Given the description of an element on the screen output the (x, y) to click on. 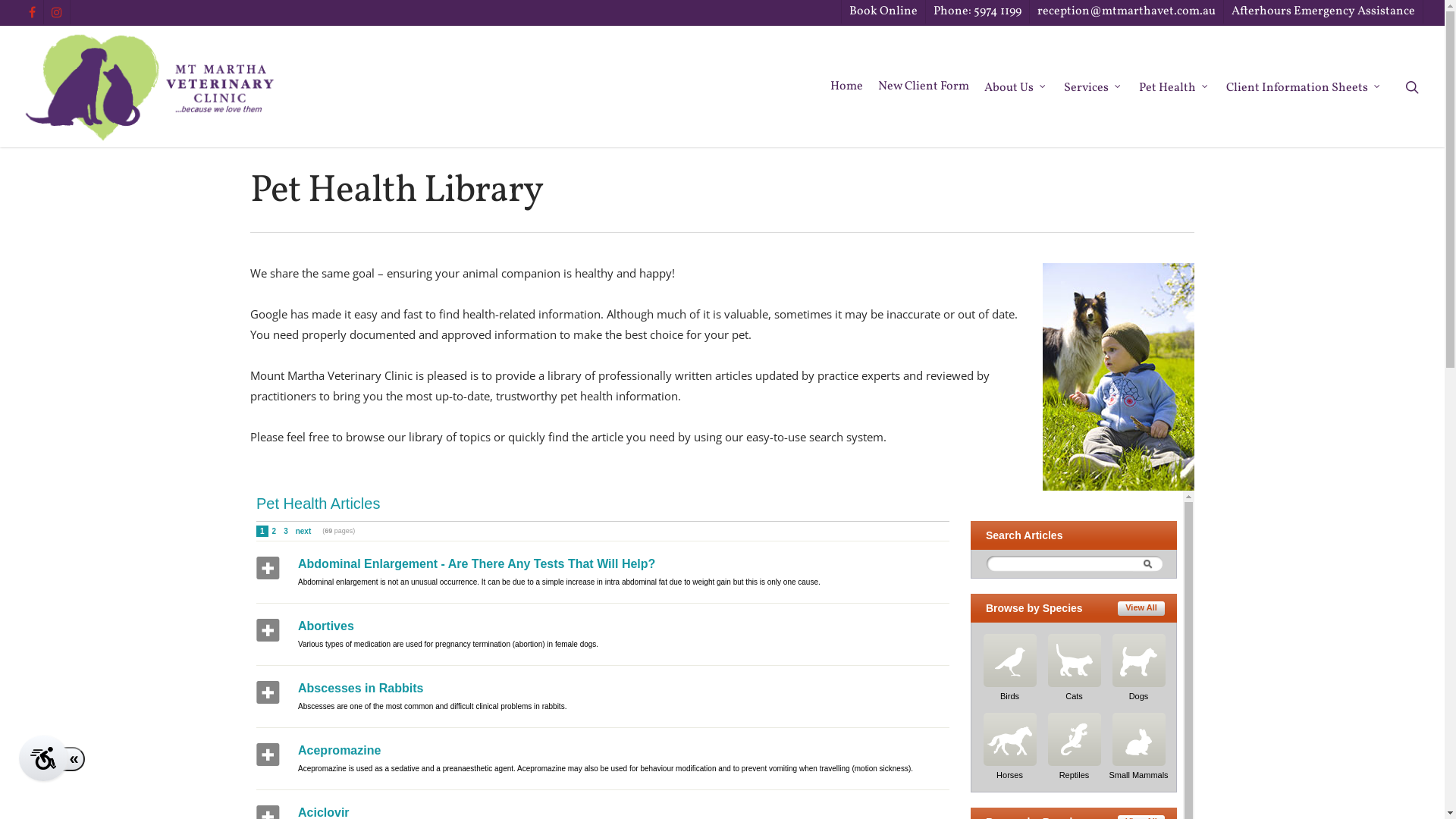
Switch to accessible version of site Element type: hover (42, 758)
Home Element type: text (846, 86)
reception@mtmarthavet.com.au Element type: text (1126, 11)
Book Online Element type: text (882, 11)
Services Element type: text (1093, 86)
Phone: 5974 1199 Element type: text (977, 11)
Pet Health Element type: text (1175, 86)
Client Information Sheets Element type: text (1304, 86)
New Client Form Element type: text (923, 86)
About Us Element type: text (1016, 86)
Afterhours Emergency Assistance Element type: text (1322, 11)
